Given the description of an element on the screen output the (x, y) to click on. 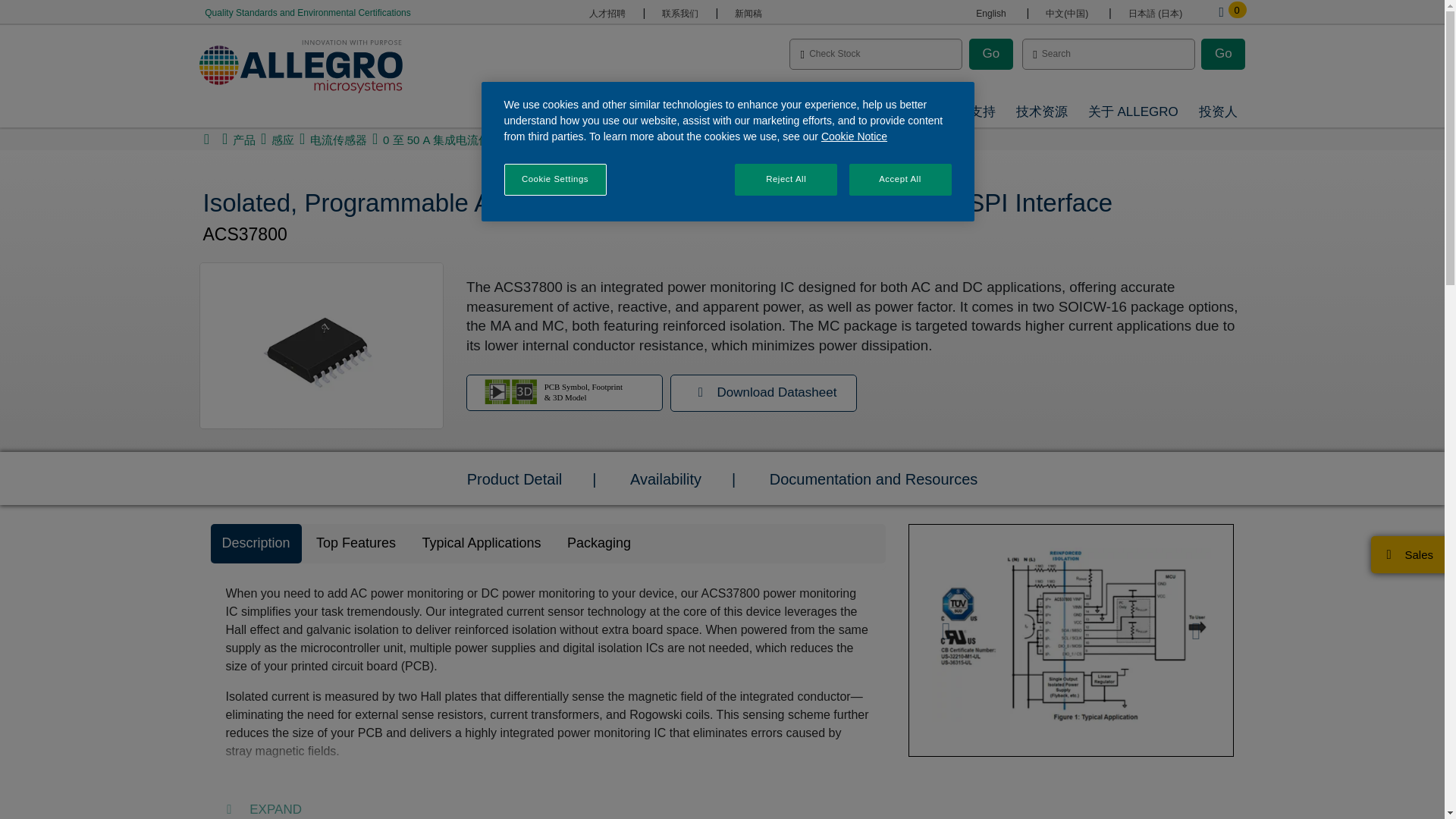
English : English (990, 13)
English (990, 13)
Quality Standards and Environmental Certifications (306, 12)
Go (1222, 53)
ACS37800 Typical Application (1070, 634)
Go (991, 53)
0 (1220, 12)
home (206, 139)
